Given the description of an element on the screen output the (x, y) to click on. 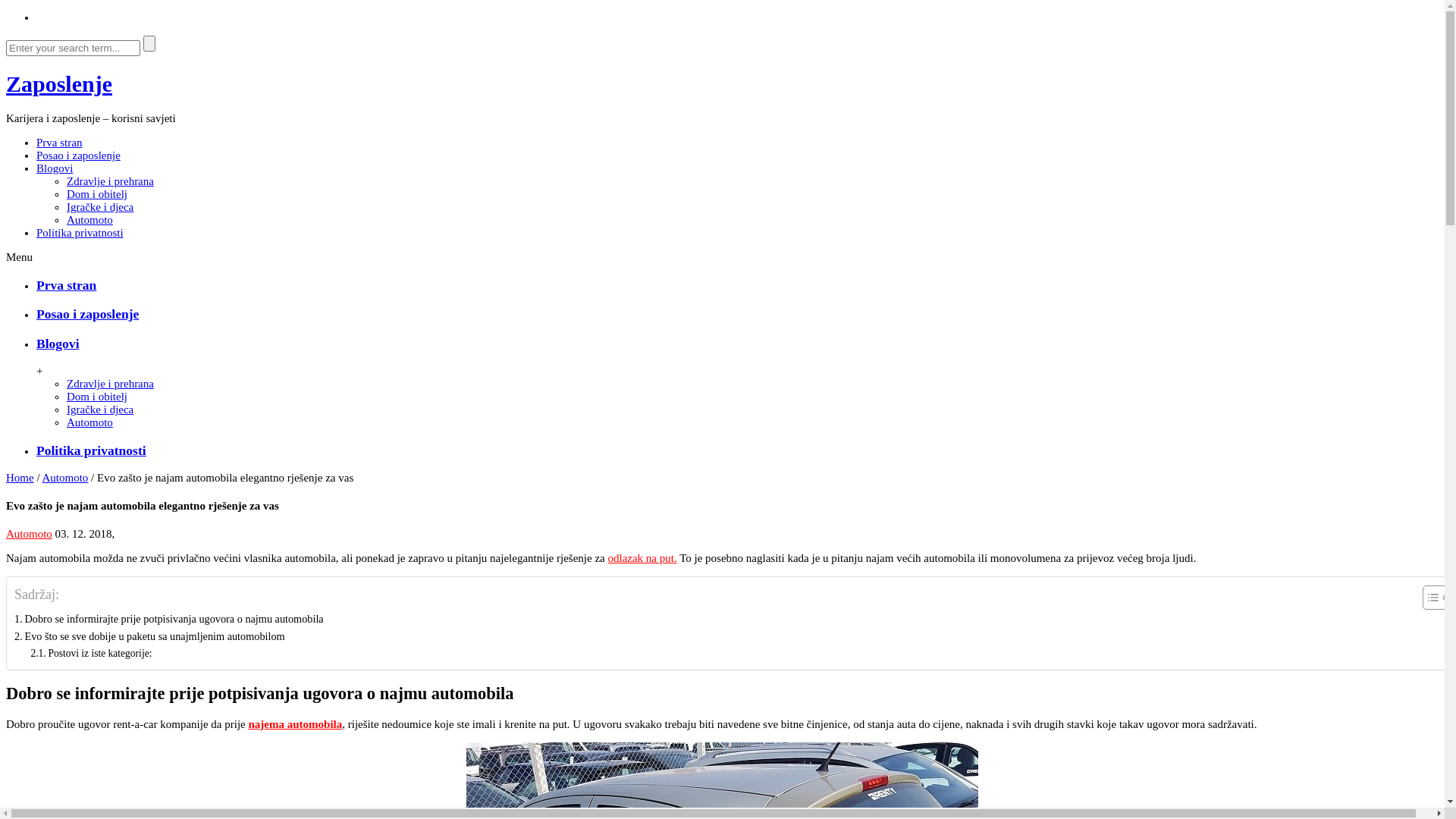
Posao i zaposlenje Element type: text (78, 155)
Zaposlenje Element type: text (59, 83)
Automoto Element type: text (65, 477)
Politika privatnosti Element type: text (91, 450)
Prva stran Element type: text (58, 142)
Home Element type: text (20, 477)
Automoto Element type: text (89, 422)
Politika privatnosti Element type: text (79, 232)
Zdravlje i prehrana Element type: text (109, 181)
Blogovi Element type: text (54, 168)
najema automobila Element type: text (294, 724)
Zdravlje i prehrana Element type: text (109, 383)
Automoto Element type: text (29, 533)
Blogovi Element type: text (57, 343)
odlazak na put. Element type: text (641, 558)
Posao i zaposlenje Element type: text (87, 313)
Dom i obitelj Element type: text (96, 194)
Postovi iz iste kategorije: Element type: text (90, 653)
Automoto Element type: text (89, 219)
Prva stran Element type: text (66, 284)
Dom i obitelj Element type: text (96, 396)
